Given the description of an element on the screen output the (x, y) to click on. 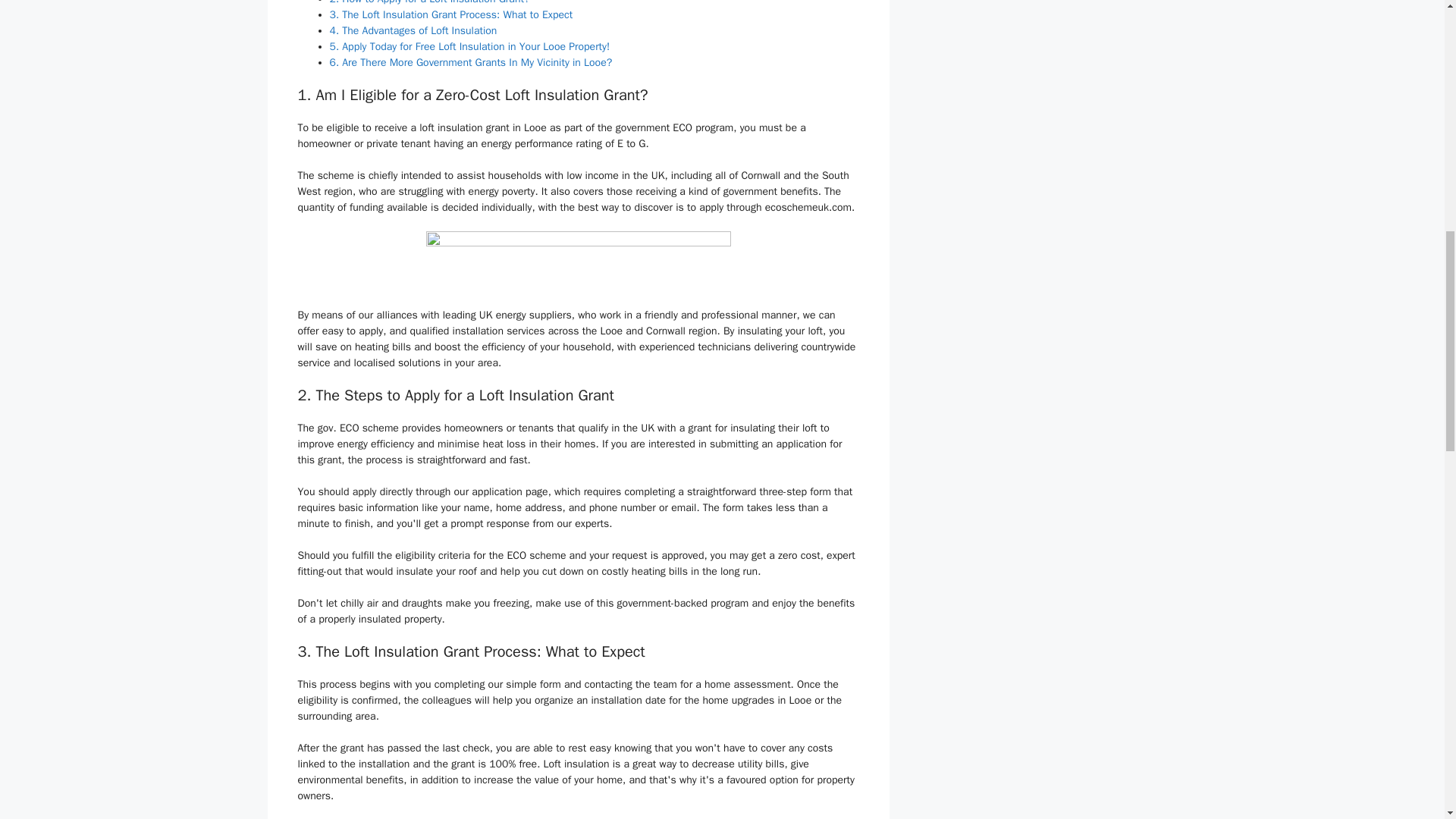
3. The Loft Insulation Grant Process: What to Expect (450, 14)
4. The Advantages of Loft Insulation (412, 30)
6. Are There More Government Grants In My Vicinity in Looe? (470, 62)
2. How to Apply for a Loft Insulation Grant? (429, 2)
